Given the description of an element on the screen output the (x, y) to click on. 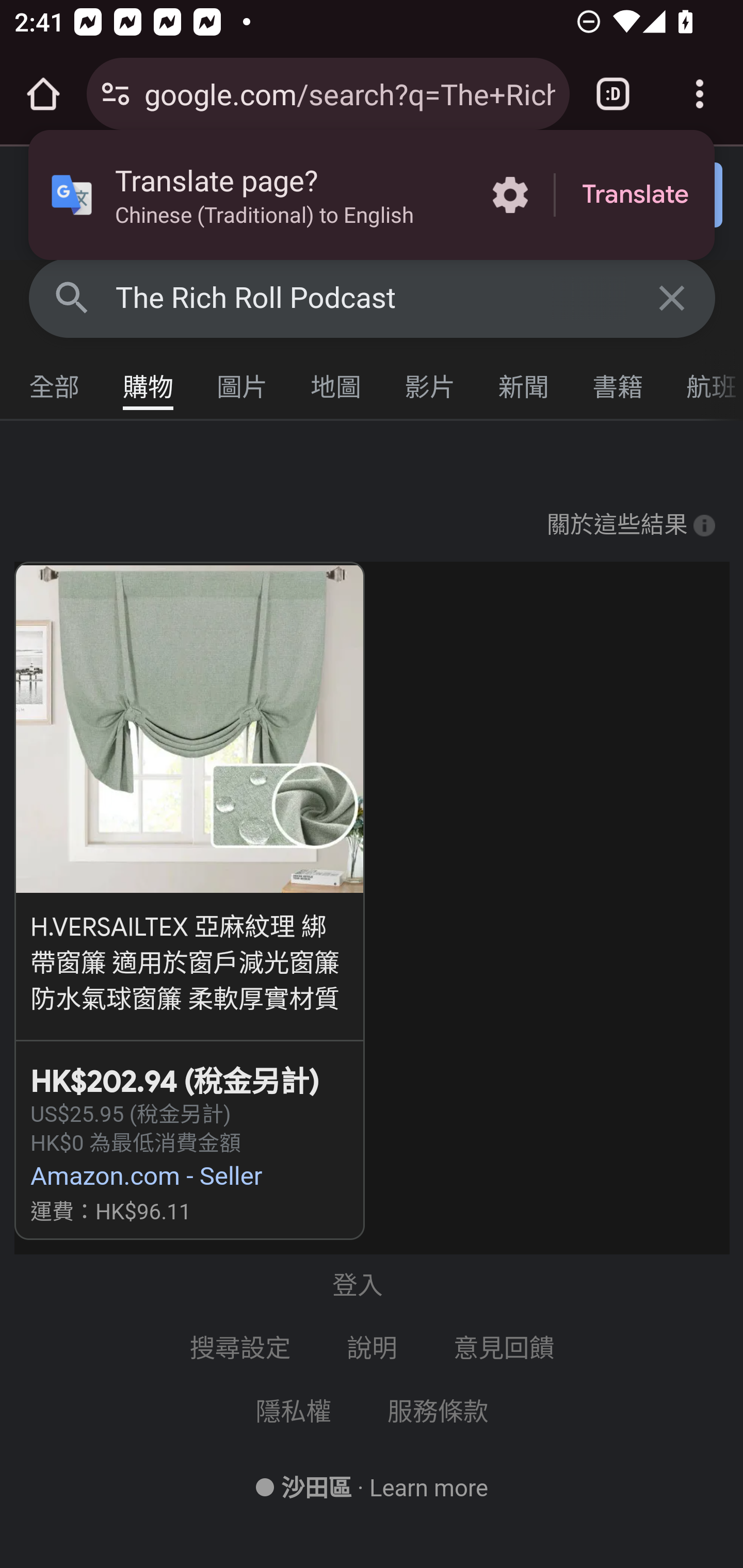
Open the home page (43, 93)
Connection is secure (115, 93)
Switch or close tabs (612, 93)
Customize and control Google Chrome (699, 93)
More options in the Translate page? (509, 195)
登入 (650, 195)
Google 搜尋 (71, 296)
清除搜尋內容 (672, 296)
The Rich Roll Podcast (372, 297)
全部 (54, 382)
圖片 (242, 382)
地圖 (336, 382)
影片 (430, 382)
新聞 (524, 382)
書籍 (618, 382)
航班 (703, 382)
關於這些結果 More info 關於這些結果  More info (630, 525)
登入 (371, 1284)
搜尋設定 (240, 1348)
說明 (372, 1348)
意見回饋 (505, 1348)
隱私權 (294, 1411)
服務條款 (437, 1411)
瞭解詳情 Learn more (428, 1487)
